Given the description of an element on the screen output the (x, y) to click on. 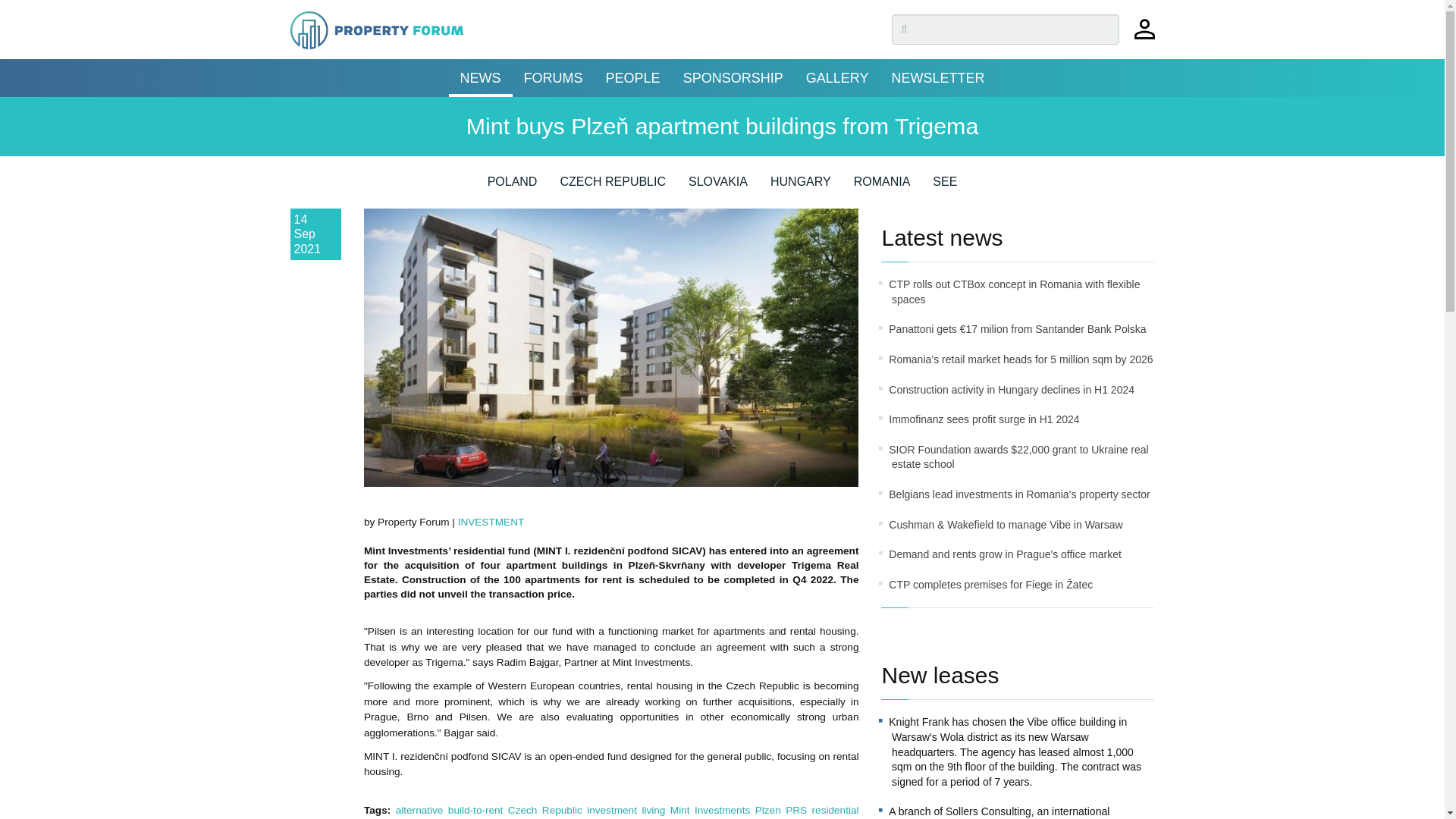
PEOPLE (632, 77)
alternative (420, 809)
HUNGARY (800, 186)
GALLERY (837, 77)
Signed out (1144, 36)
ROMANIA (882, 186)
SEE (944, 186)
FORUMS (553, 77)
CZECH REPUBLIC (612, 186)
SPONSORSHIP (732, 77)
